Given the description of an element on the screen output the (x, y) to click on. 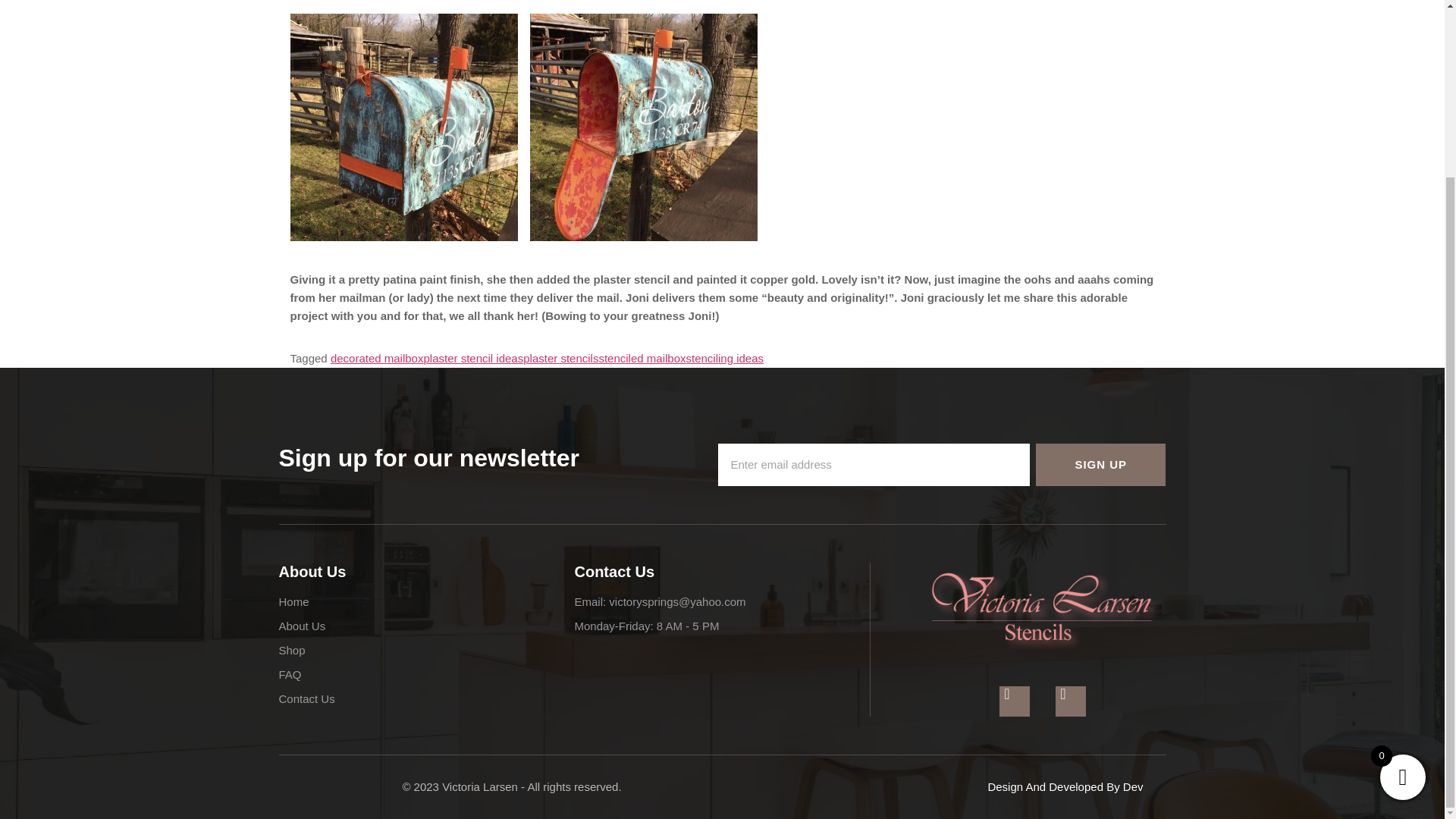
plaster stencils (560, 358)
plaster stencil ideas (472, 358)
About Us (427, 628)
Design And Developed By Dev (1064, 786)
SIGN UP (1100, 466)
Shop (427, 652)
Contact Us (427, 700)
decorated mailbox (376, 358)
FAQ (427, 676)
stenciled mailbox (641, 358)
